Given the description of an element on the screen output the (x, y) to click on. 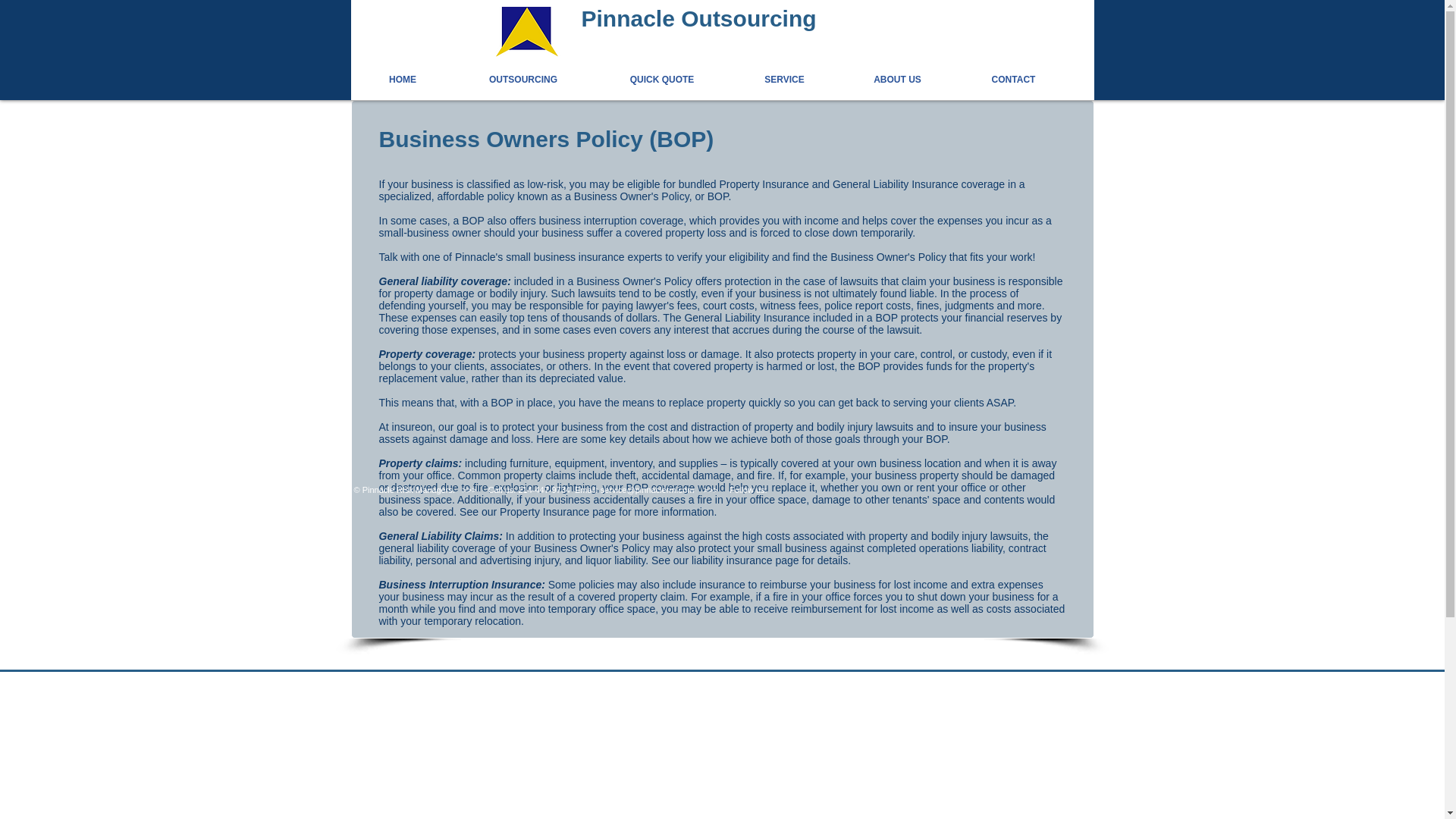
HOME (402, 78)
SERVICE (761, 78)
CONTACT (989, 78)
QUICK QUOTE (639, 78)
pinnacle.png (525, 30)
OUTSOURCING (499, 78)
ABOUT US (875, 78)
